Given the description of an element on the screen output the (x, y) to click on. 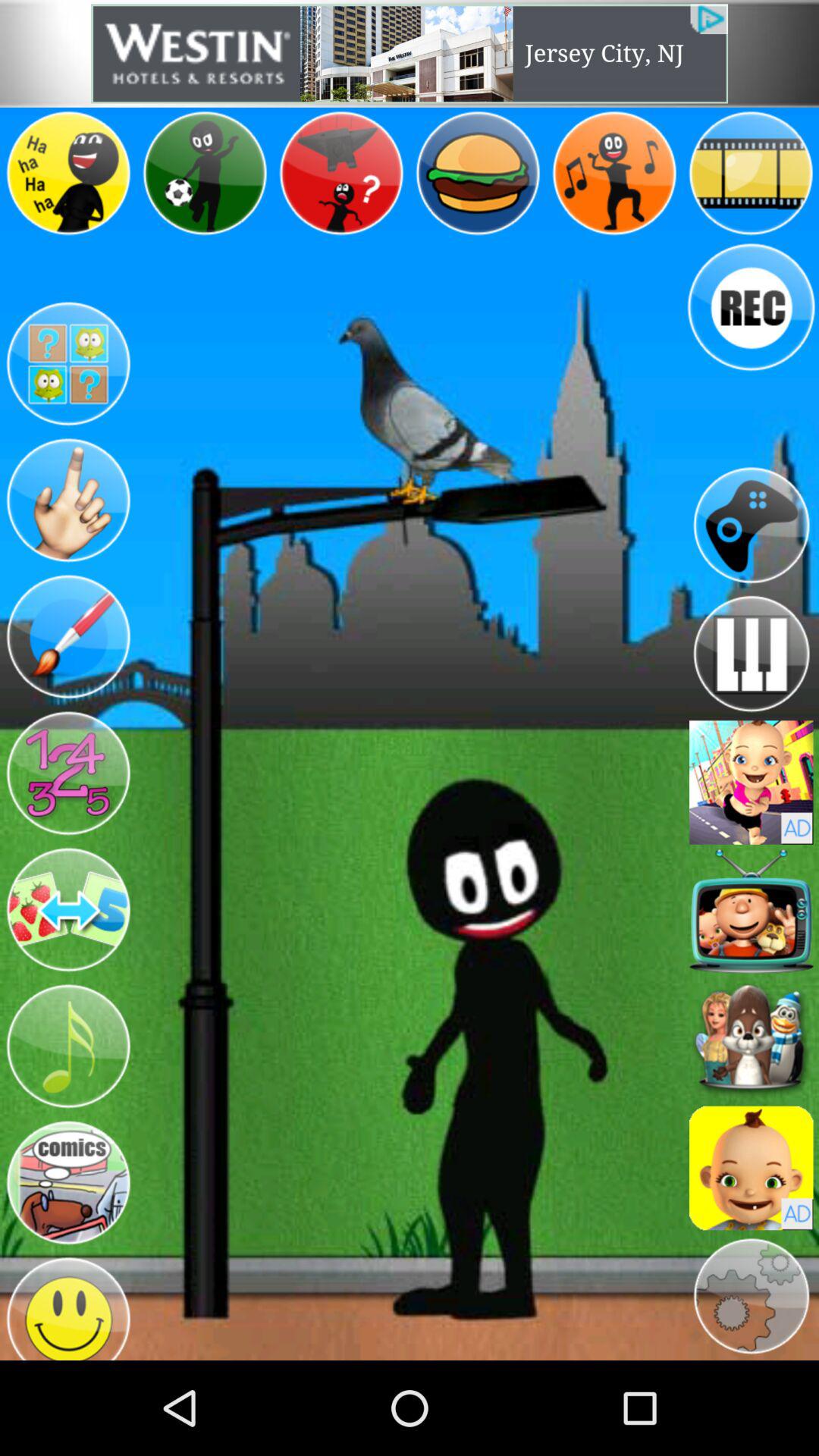
play game (751, 525)
